Given the description of an element on the screen output the (x, y) to click on. 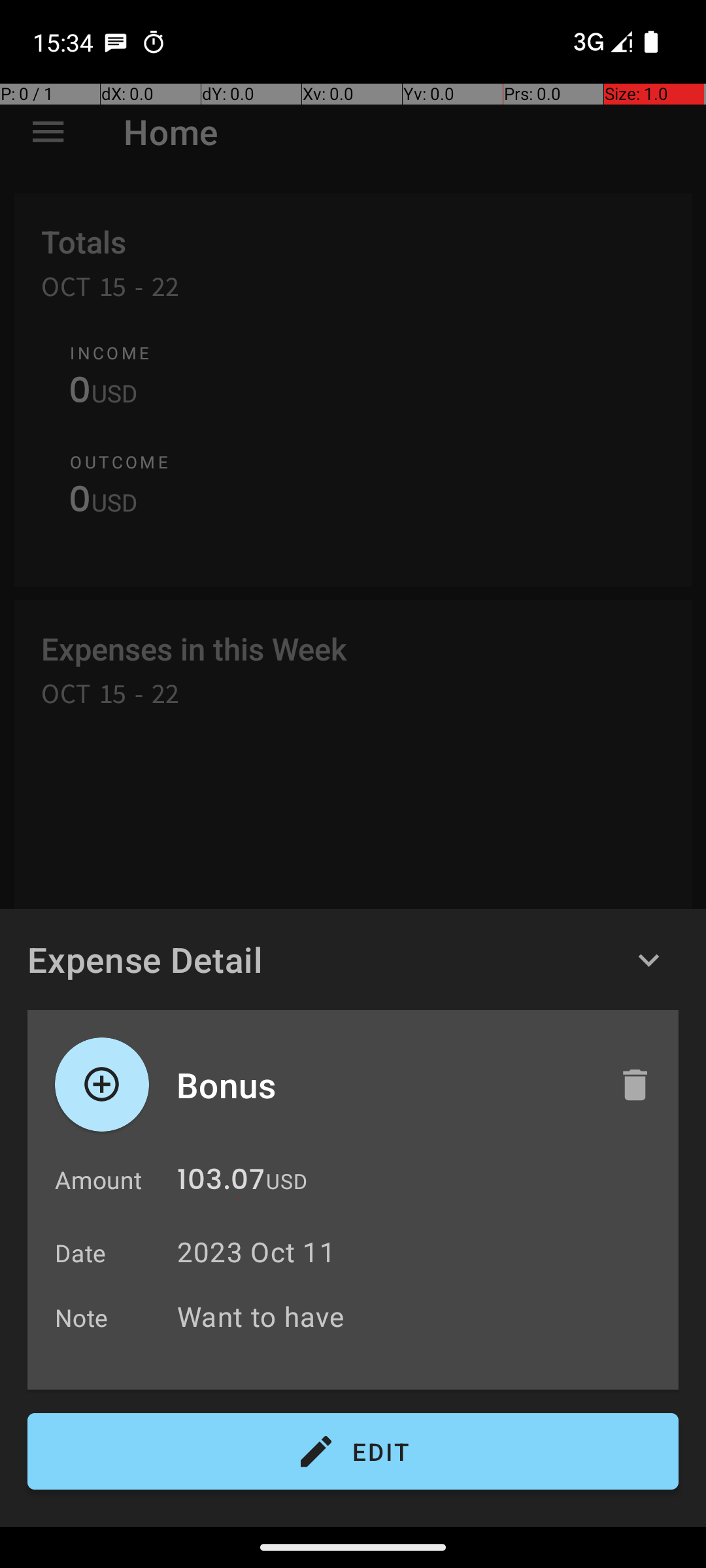
103.07 Element type: android.widget.TextView (220, 1182)
